Given the description of an element on the screen output the (x, y) to click on. 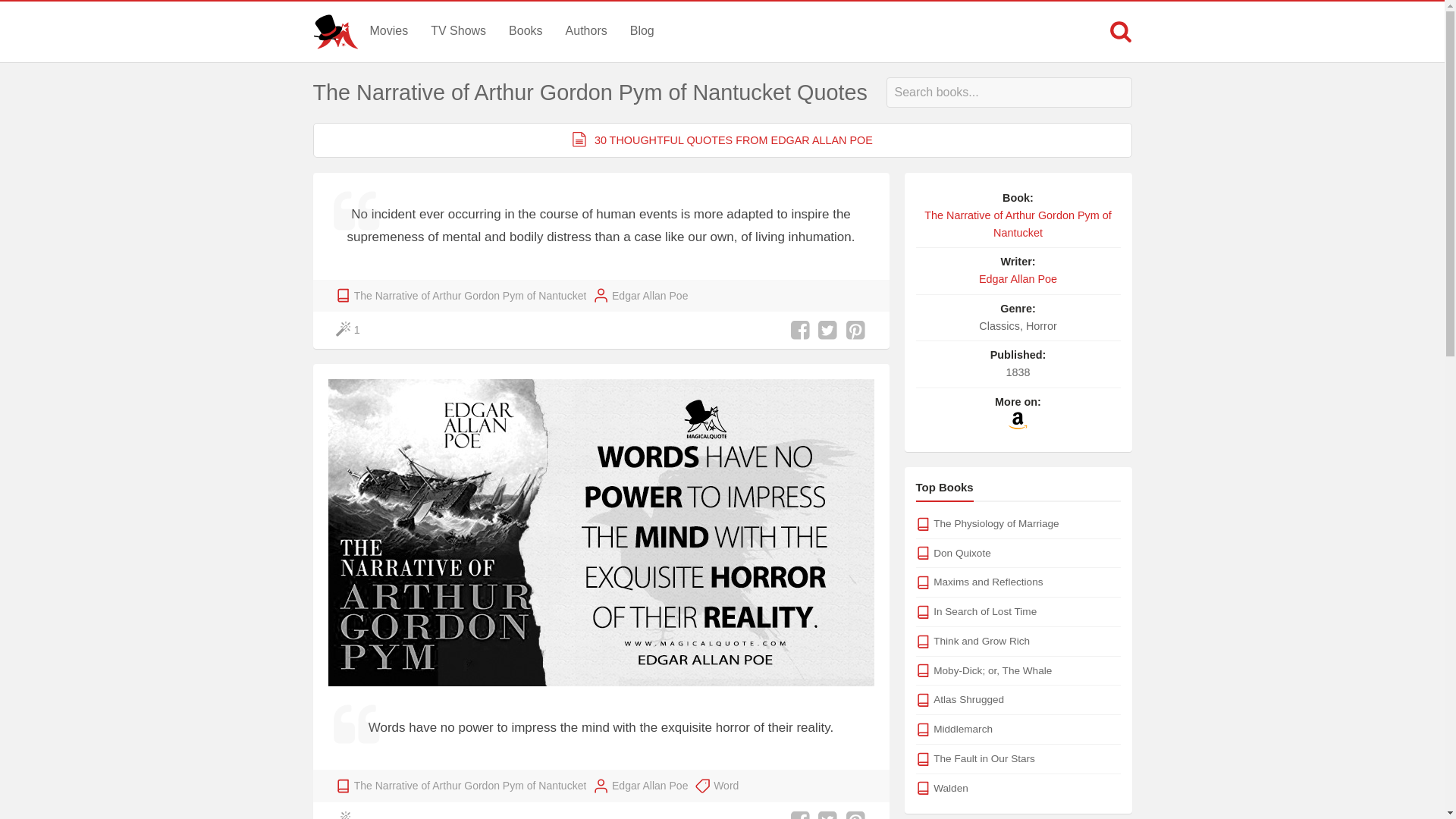
1 (348, 330)
Do Some Magic! (345, 814)
Edgar Allan Poe (649, 295)
30 THOUGHTFUL QUOTES FROM EDGAR ALLAN POE (722, 139)
Books (525, 30)
The Narrative of Arthur Gordon Pym of Nantucket (469, 785)
The Narrative of Arthur Gordon Pym of Nantucket (469, 295)
Word (725, 785)
Do Some Magic! (348, 330)
TV Shows (458, 30)
Authors (586, 30)
Movies (388, 30)
Edgar Allan Poe (649, 785)
